Given the description of an element on the screen output the (x, y) to click on. 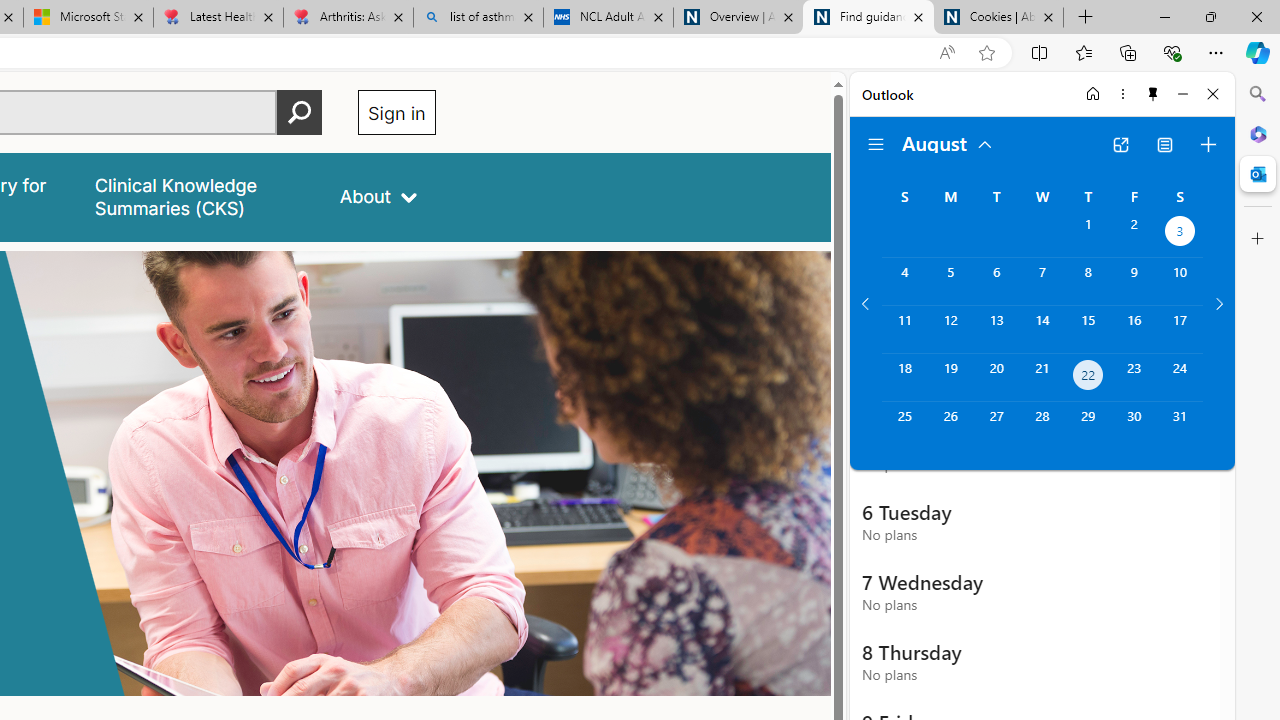
Find guidance | NICE (868, 17)
Thursday, August 8, 2024.  (1088, 281)
Saturday, August 24, 2024.  (1180, 377)
Open in new tab (1120, 144)
Friday, August 23, 2024.  (1134, 377)
Tuesday, August 20, 2024.  (996, 377)
